Given the description of an element on the screen output the (x, y) to click on. 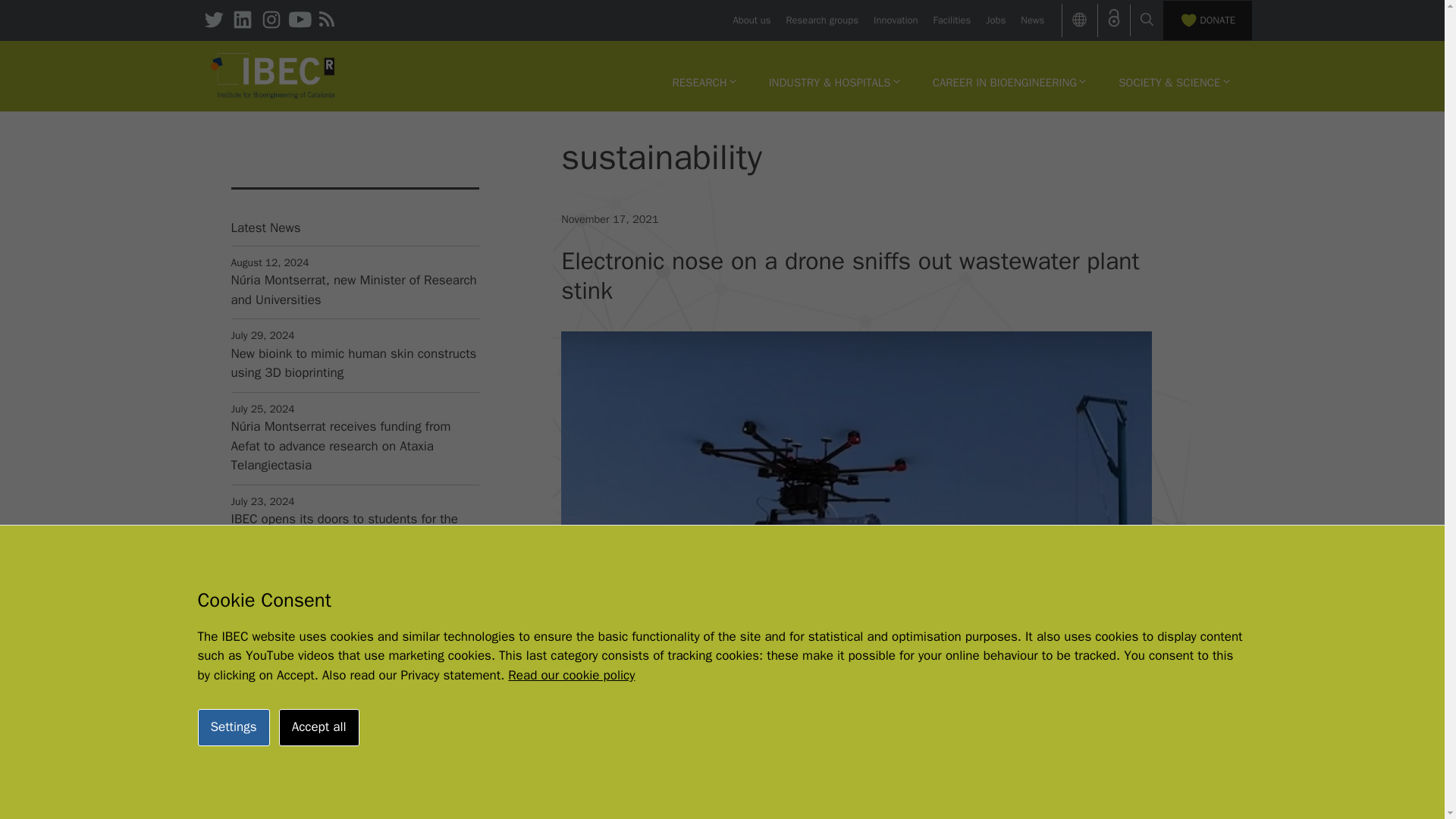
RESEARCH (704, 81)
Jobs (995, 19)
News (1031, 19)
Institute for Bioengineering of Catalonia (272, 74)
Facilities (952, 19)
Institute for Bioengineering of Catalonia (272, 75)
Innovation (895, 19)
Research groups (822, 19)
DONATE (1207, 20)
Sign me up (353, 811)
